Given the description of an element on the screen output the (x, y) to click on. 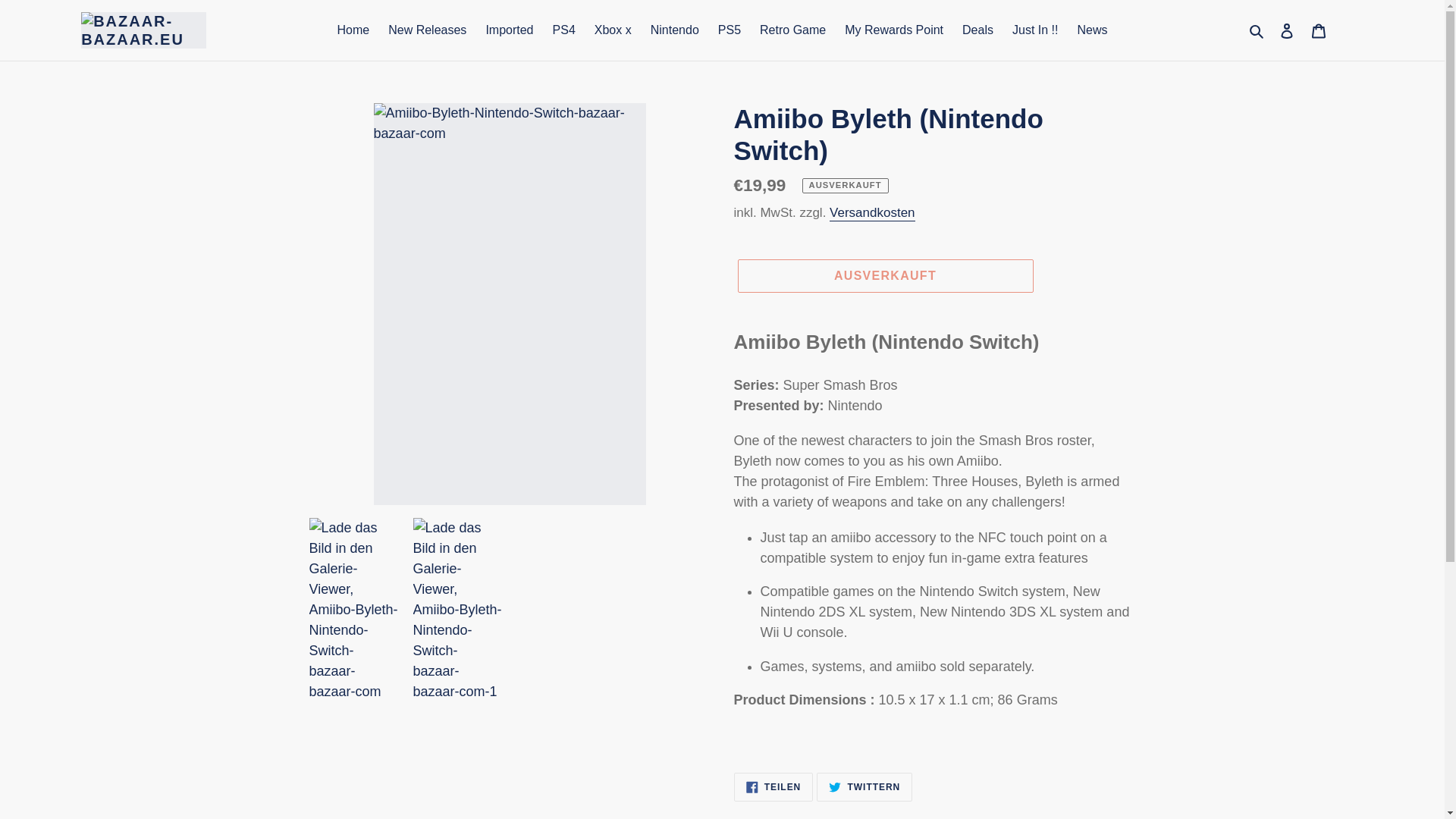
PS5 (729, 29)
Just In !! (1034, 29)
Retro Game (792, 29)
Xbox x (612, 29)
Deals (978, 29)
Imported (508, 29)
My Rewards Point (893, 29)
Einloggen (1287, 29)
Nintendo (674, 29)
Warenkorb (1319, 29)
